Given the description of an element on the screen output the (x, y) to click on. 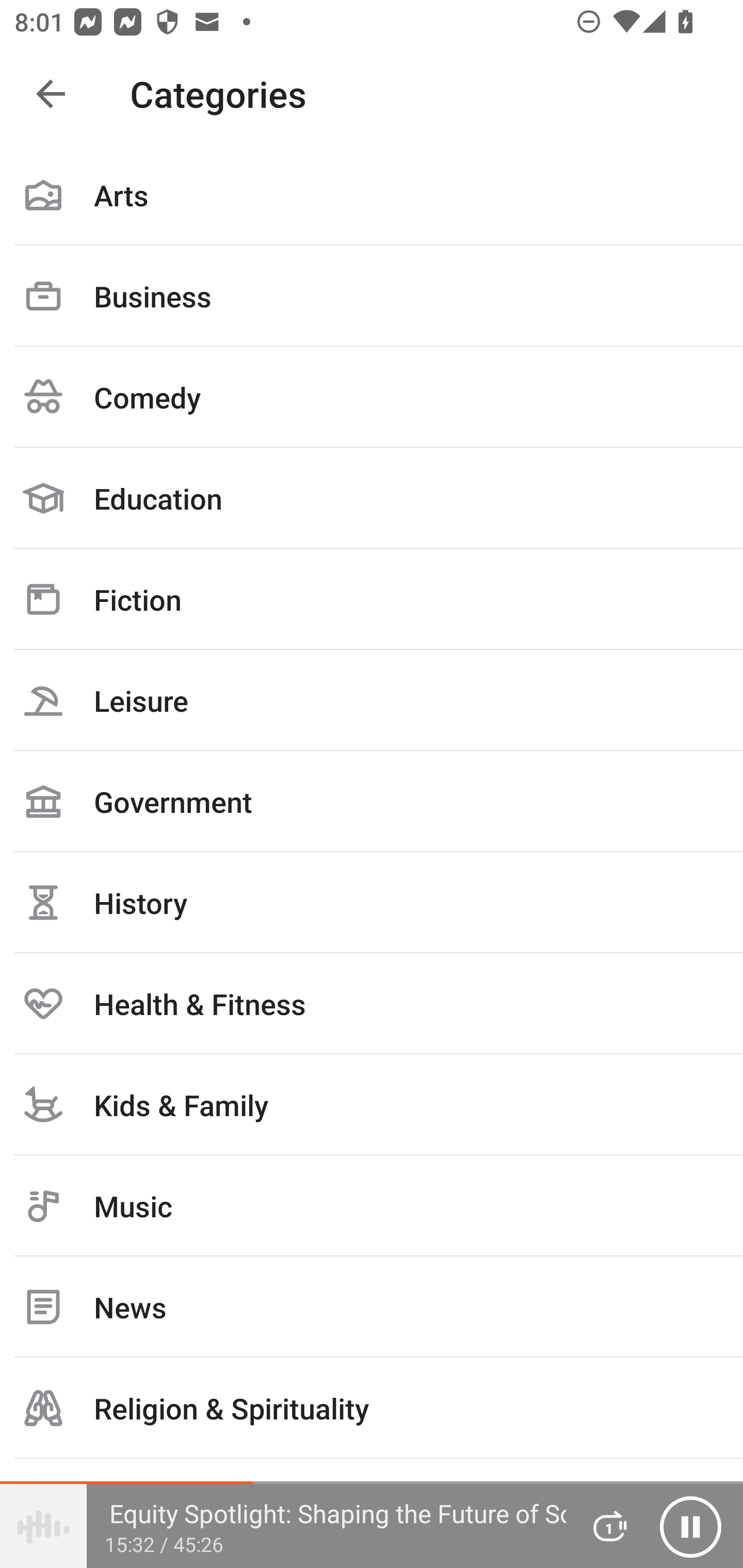
Navigate up (50, 93)
Arts (371, 195)
Business (371, 296)
Comedy (371, 397)
Education (371, 498)
Fiction (371, 598)
Leisure (371, 700)
Government (371, 801)
History (371, 902)
Health & Fitness (371, 1003)
Kids & Family (371, 1104)
Music (371, 1205)
News (371, 1306)
Religion & Spirituality (371, 1407)
Pause (690, 1526)
